Given the description of an element on the screen output the (x, y) to click on. 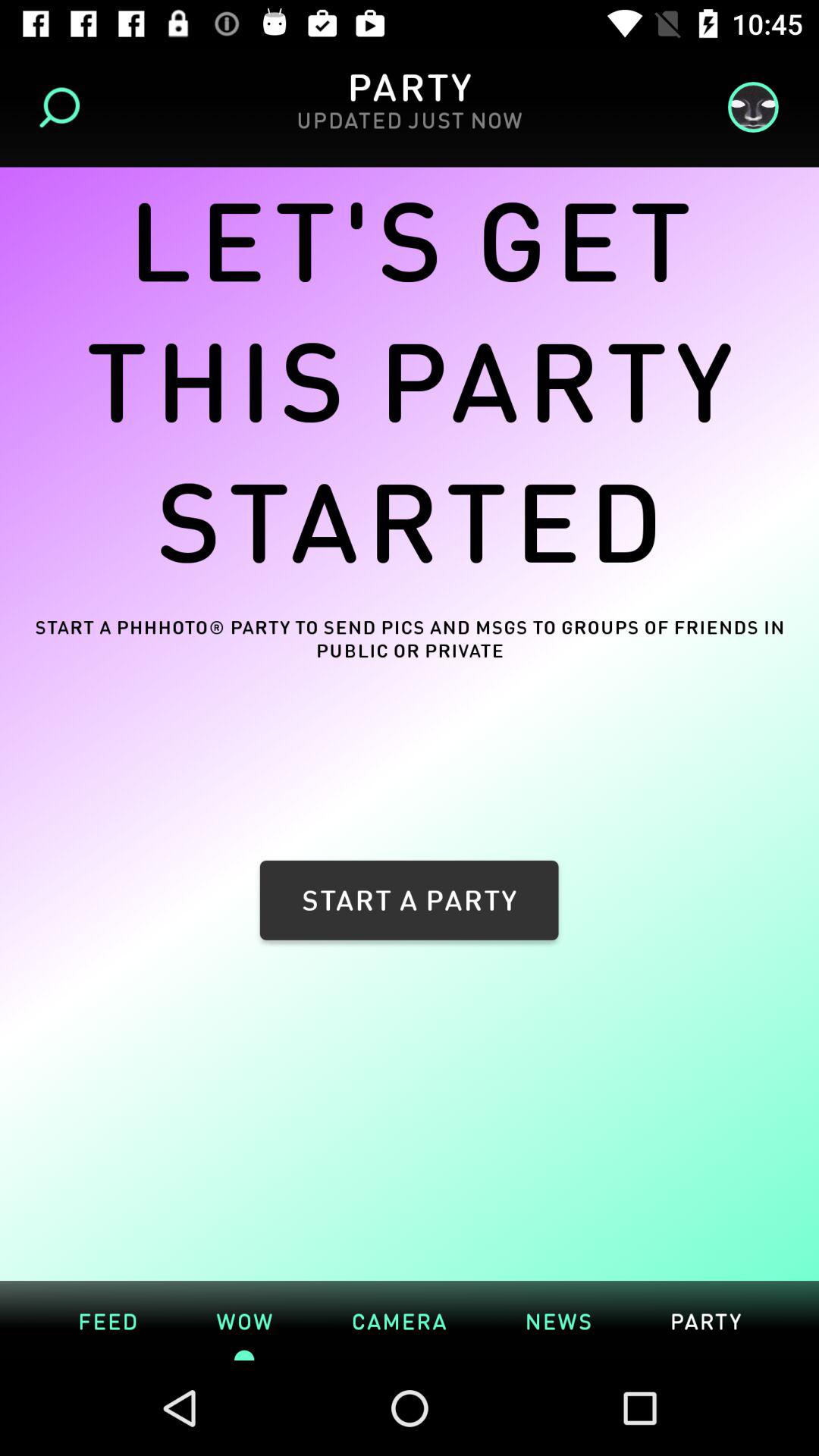
flip to updated just now (408, 129)
